Given the description of an element on the screen output the (x, y) to click on. 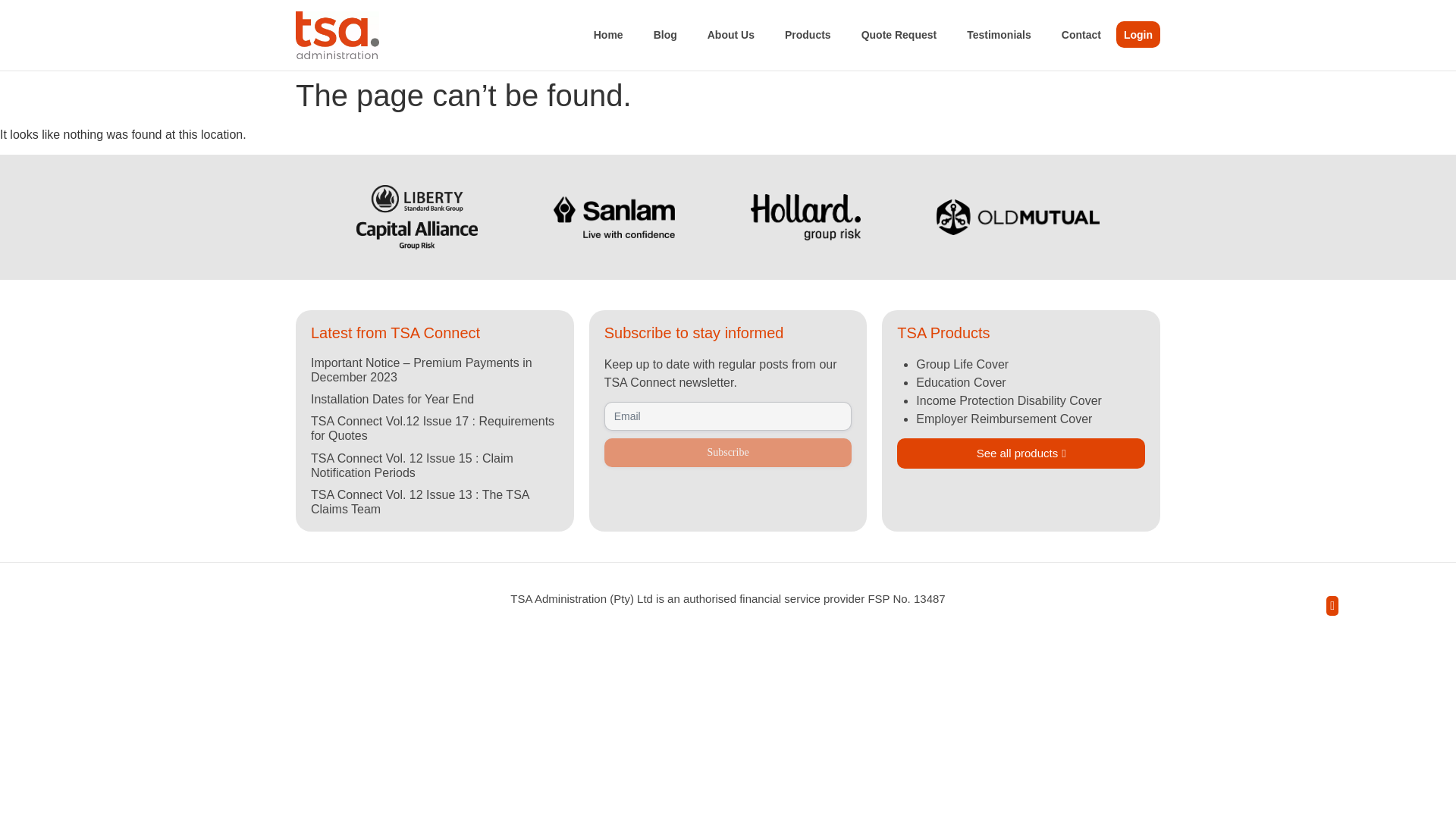
Blog (666, 34)
Quote Request (898, 34)
Testimonials (999, 34)
Home (608, 34)
Login (1138, 34)
Products (807, 34)
Subscribe (727, 452)
Contact (1081, 34)
About Us (731, 34)
